Given the description of an element on the screen output the (x, y) to click on. 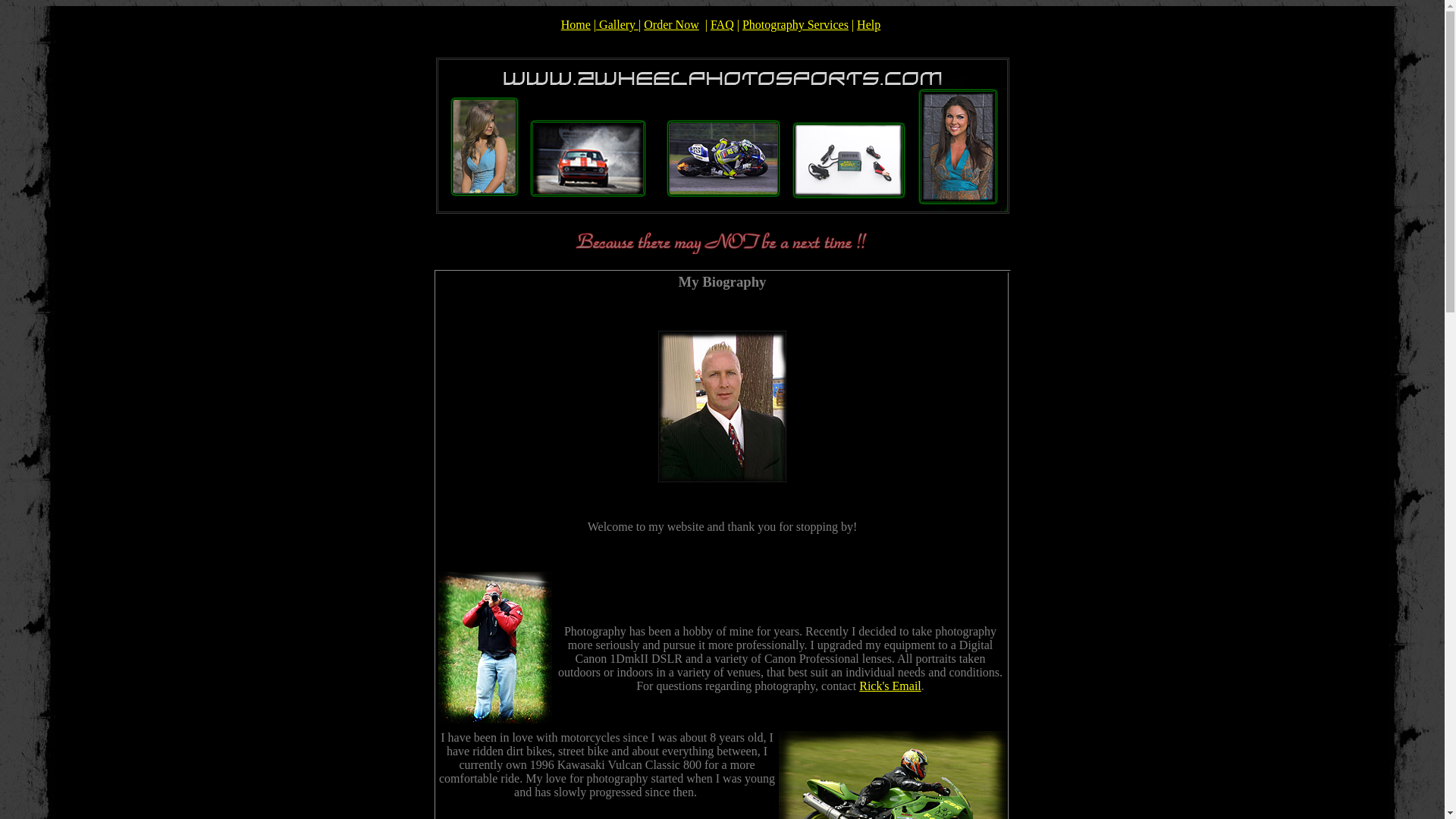
Gallery Element type: text (617, 24)
Home Element type: text (575, 24)
Order Now Element type: text (670, 24)
Photography Services Element type: text (795, 24)
FAQ Element type: text (722, 24)
Help Element type: text (868, 24)
Rick's Email Element type: text (890, 685)
